Given the description of an element on the screen output the (x, y) to click on. 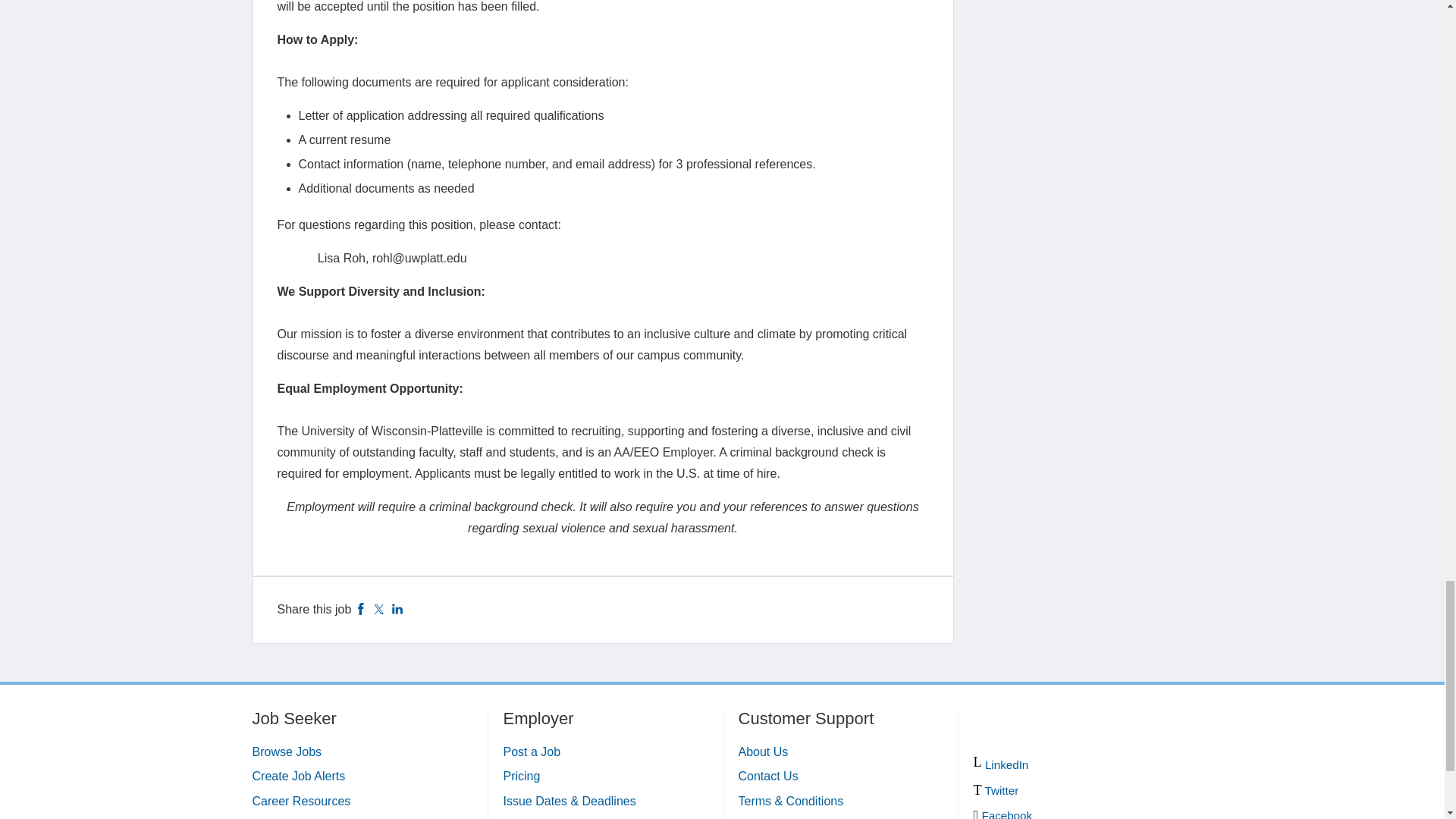
LinkedIn (397, 608)
Twitter (378, 608)
Facebook (360, 608)
